Given the description of an element on the screen output the (x, y) to click on. 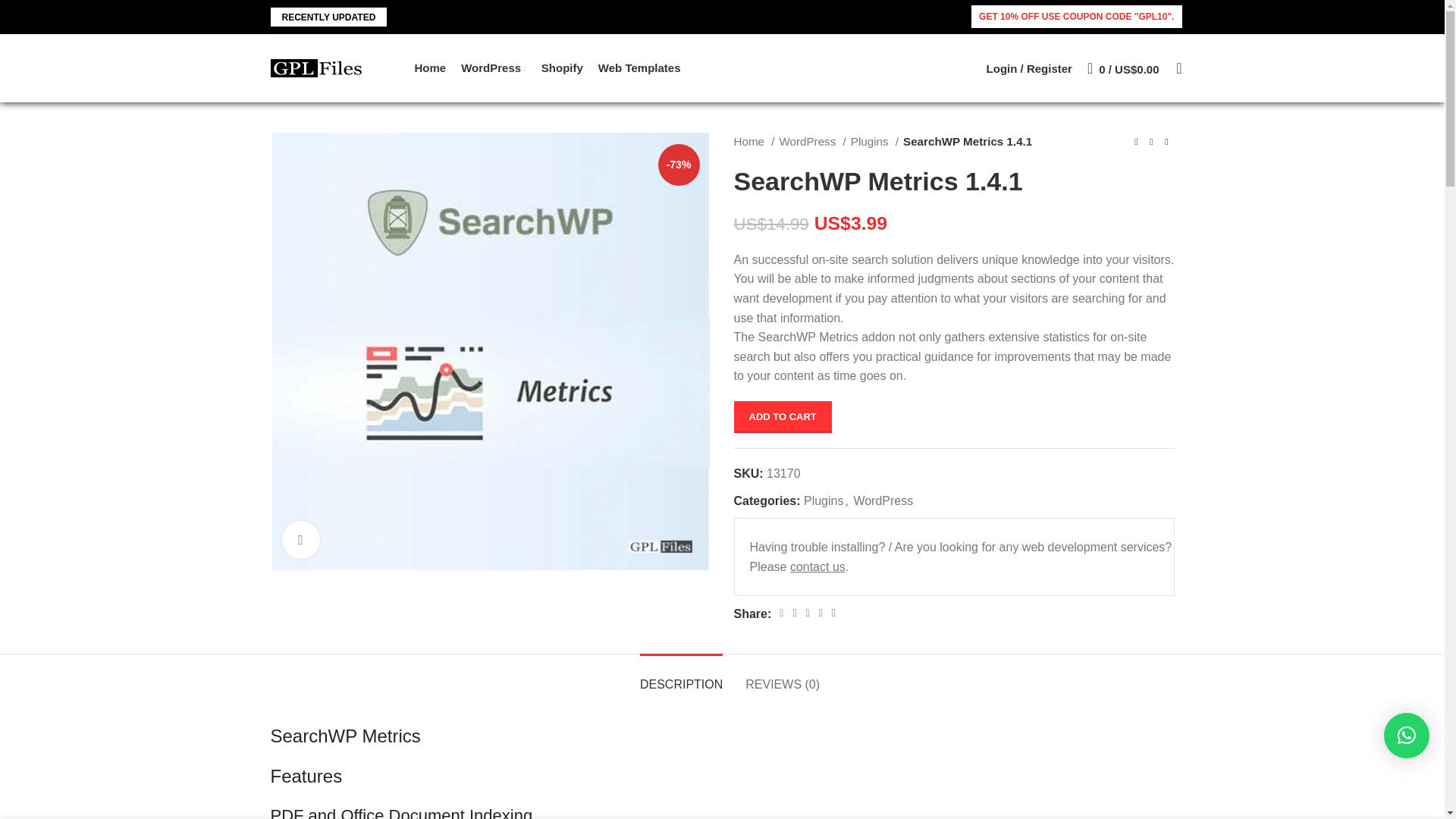
Web Templates (639, 68)
Home (429, 68)
WordPress (882, 500)
ADD TO CART (782, 417)
Plugins (823, 500)
WordPress (811, 141)
Home (753, 141)
RECENTLY UPDATED (328, 16)
Shopify (562, 68)
Plugins (874, 141)
WordPress (493, 68)
DESCRIPTION (681, 676)
Shopping cart (1123, 68)
My account (1029, 68)
